Given the description of an element on the screen output the (x, y) to click on. 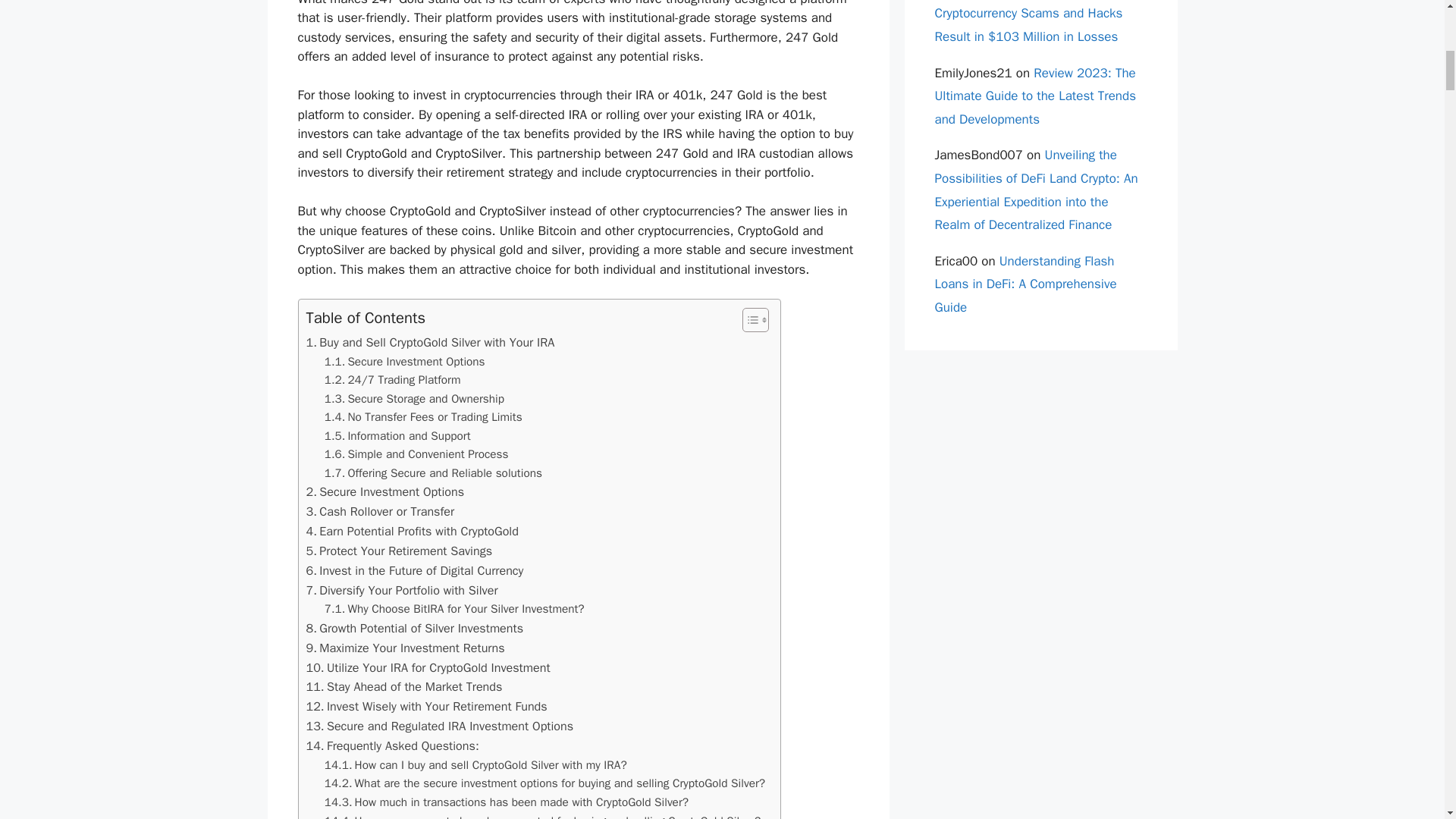
Offering Secure and Reliable solutions (432, 473)
Protect Your Retirement Savings (399, 551)
Diversify Your Portfolio with Silver (401, 590)
Why Choose BitIRA for Your Silver Investment? (454, 609)
Buy and Sell CryptoGold Silver with Your IRA (429, 342)
Secure Investment Options (384, 492)
Simple and Convenient Process (416, 454)
Why Choose BitIRA for Your Silver Investment? (454, 609)
Invest in the Future of Digital Currency (414, 570)
